Given the description of an element on the screen output the (x, y) to click on. 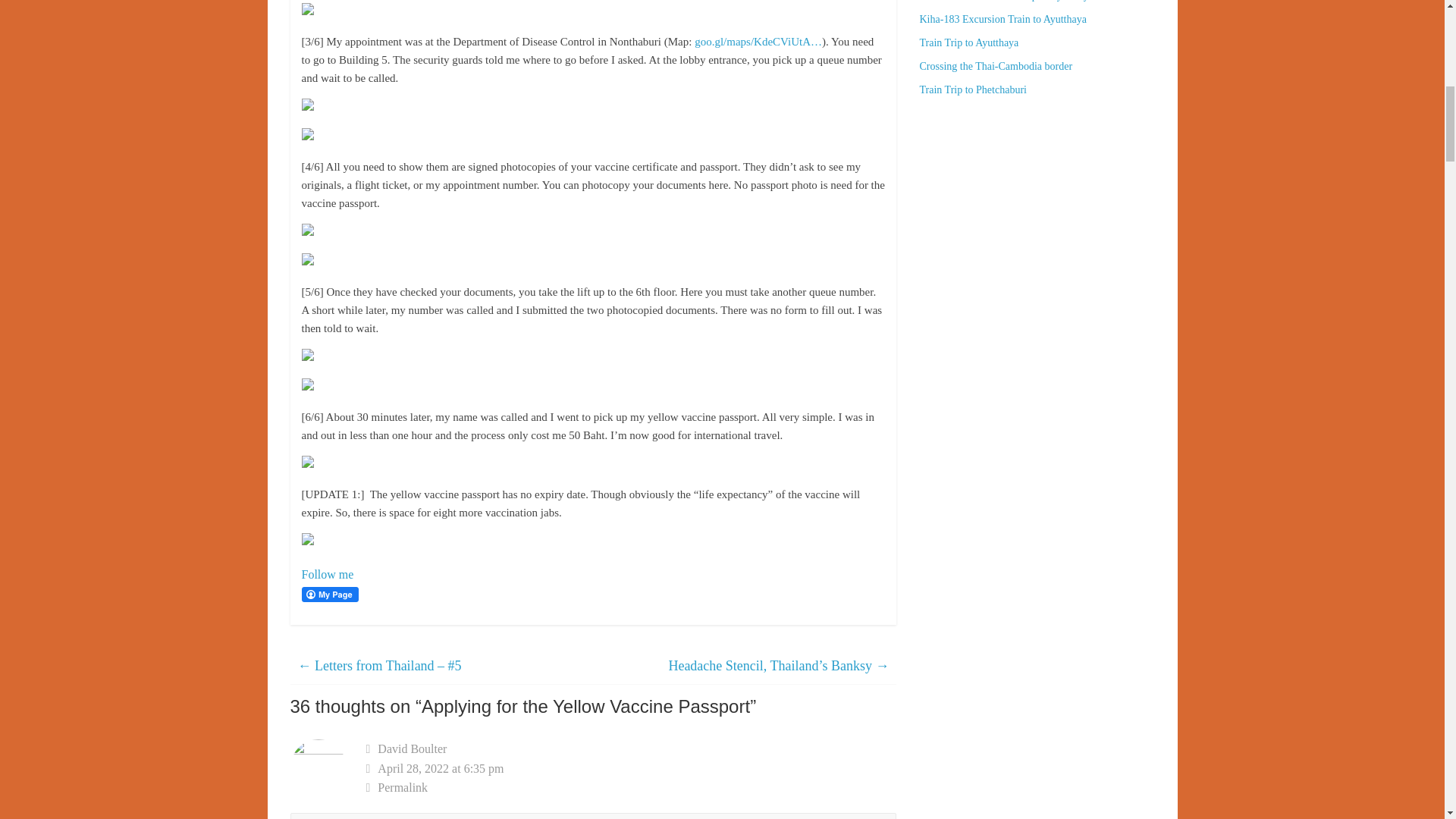
Follow me (327, 574)
Permalink (630, 787)
